Given the description of an element on the screen output the (x, y) to click on. 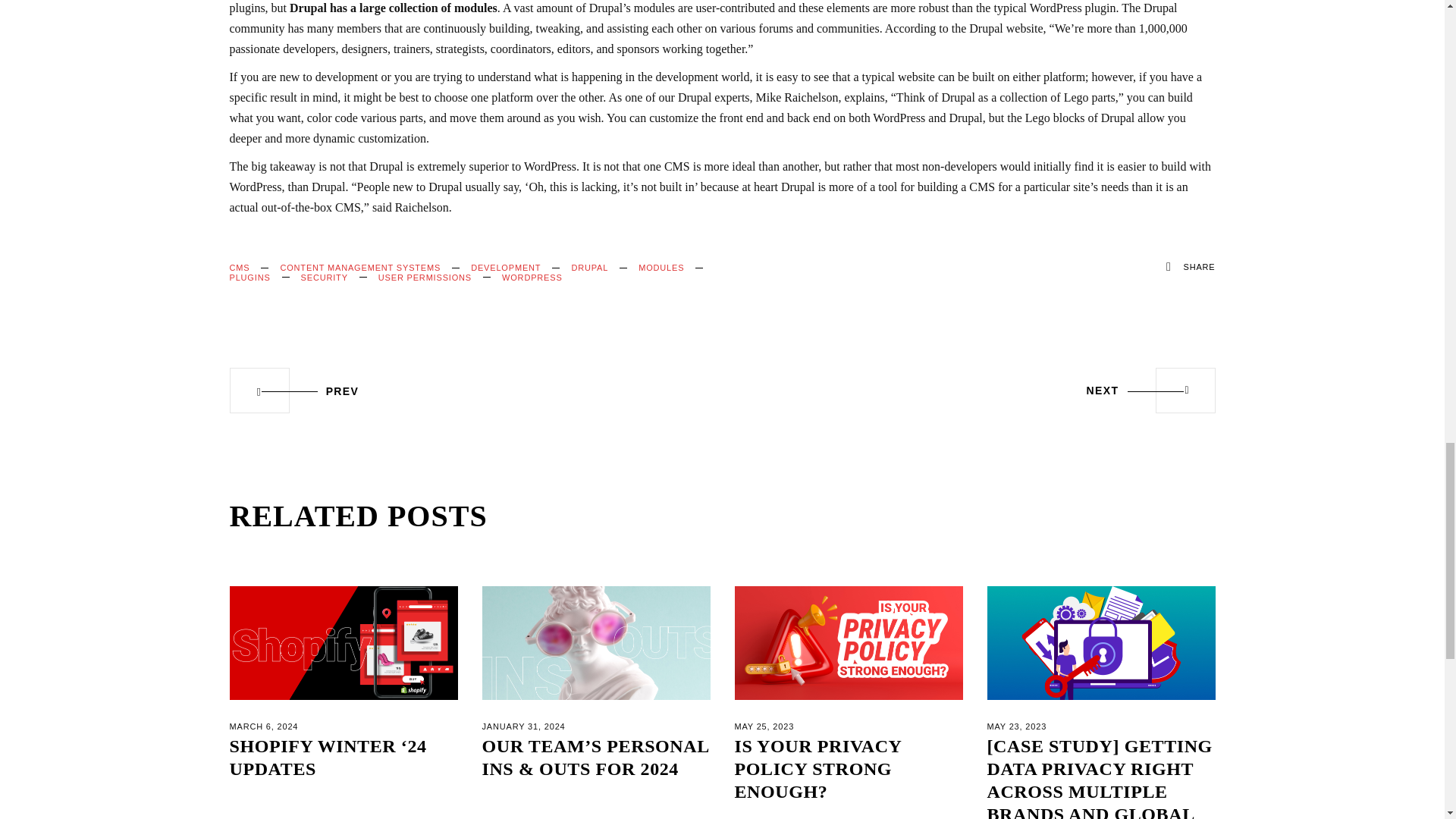
Is Your Privacy Policy Strong Enough? (847, 643)
Is Your Privacy Policy Strong Enough? (817, 768)
